Given the description of an element on the screen output the (x, y) to click on. 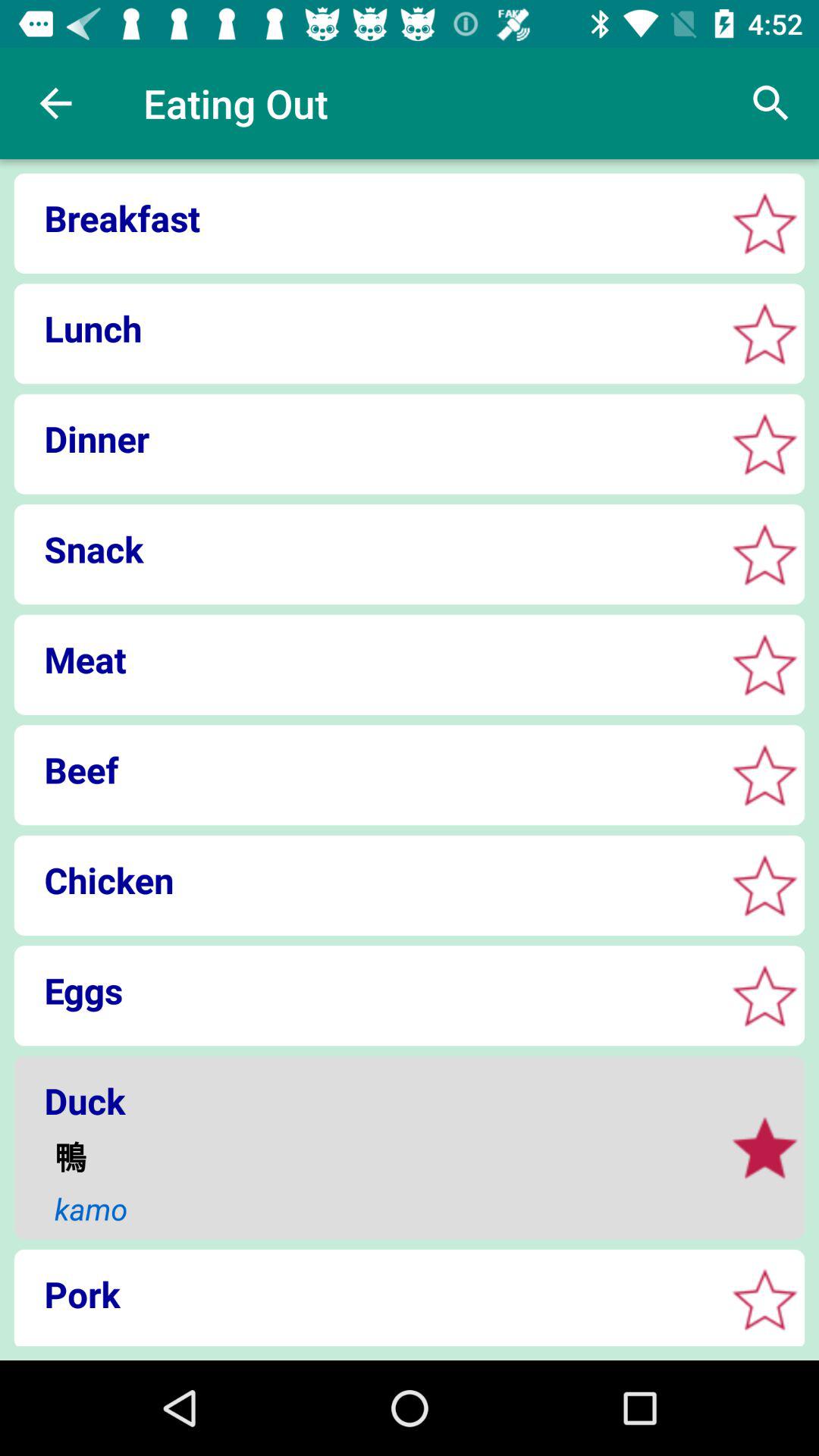
turn on icon below lunch item (364, 438)
